Given the description of an element on the screen output the (x, y) to click on. 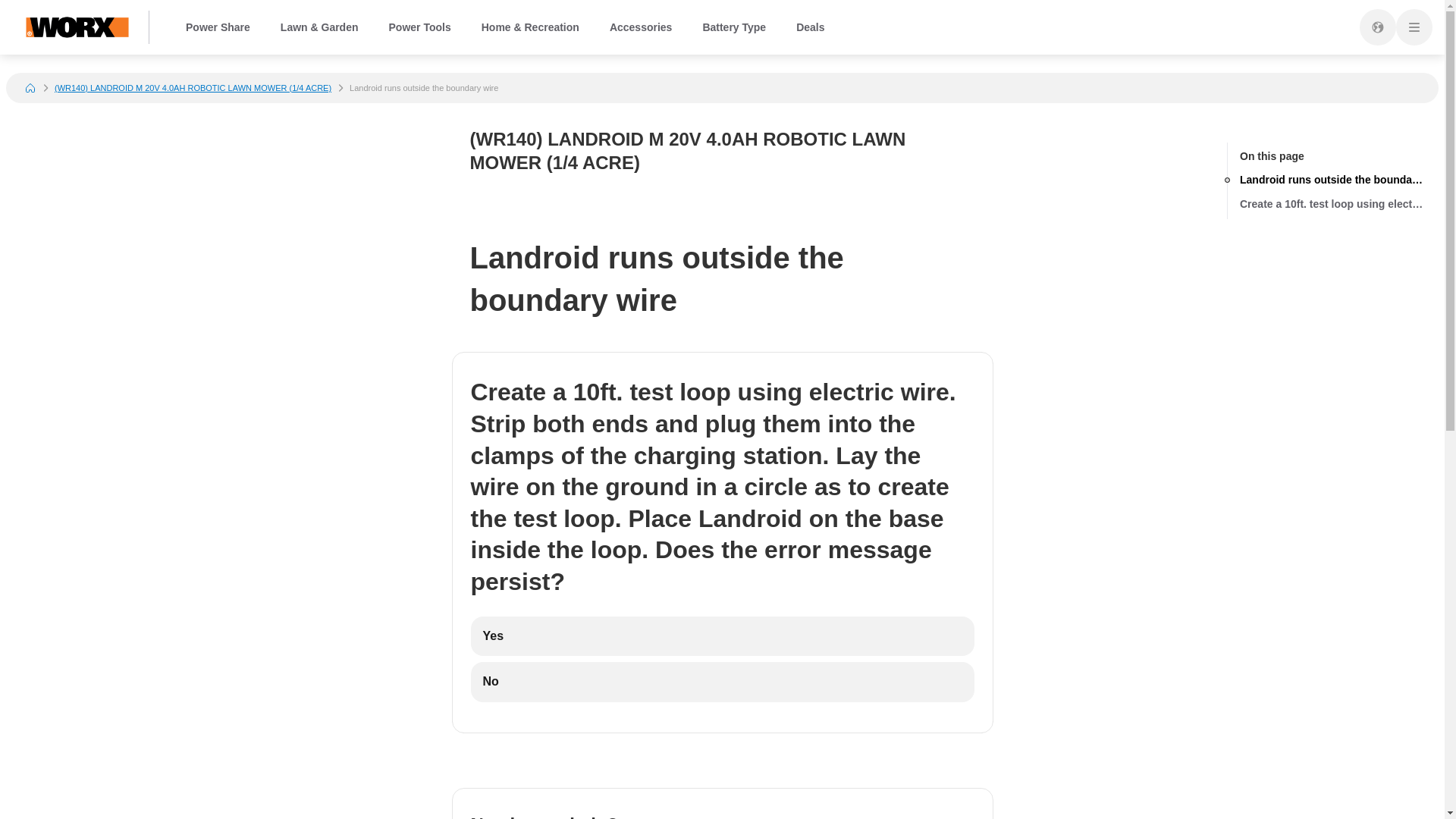
Landroid runs outside the boundary wire (1331, 179)
Power Tools (420, 27)
Accessories (640, 27)
Yes (722, 636)
Deals (809, 27)
Battery Type (733, 27)
Power Share (217, 27)
No (722, 681)
Landroid runs outside the boundary wire (1331, 179)
